Given the description of an element on the screen output the (x, y) to click on. 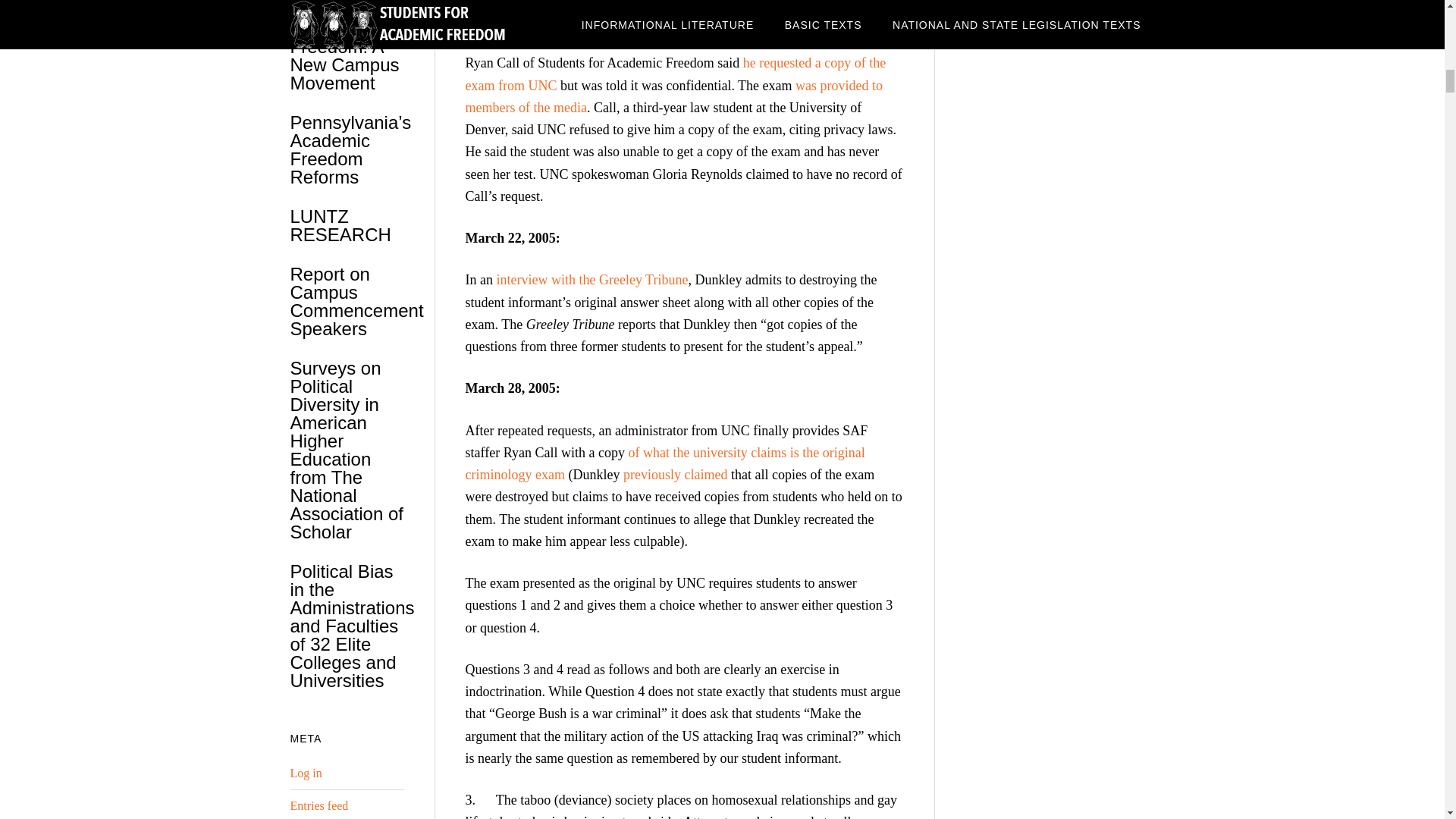
previously claimed (674, 474)
he requested a copy of the exam from UNC (675, 73)
was provided to members of the media (674, 96)
interview with the Greeley Tribune (591, 279)
